Given the description of an element on the screen output the (x, y) to click on. 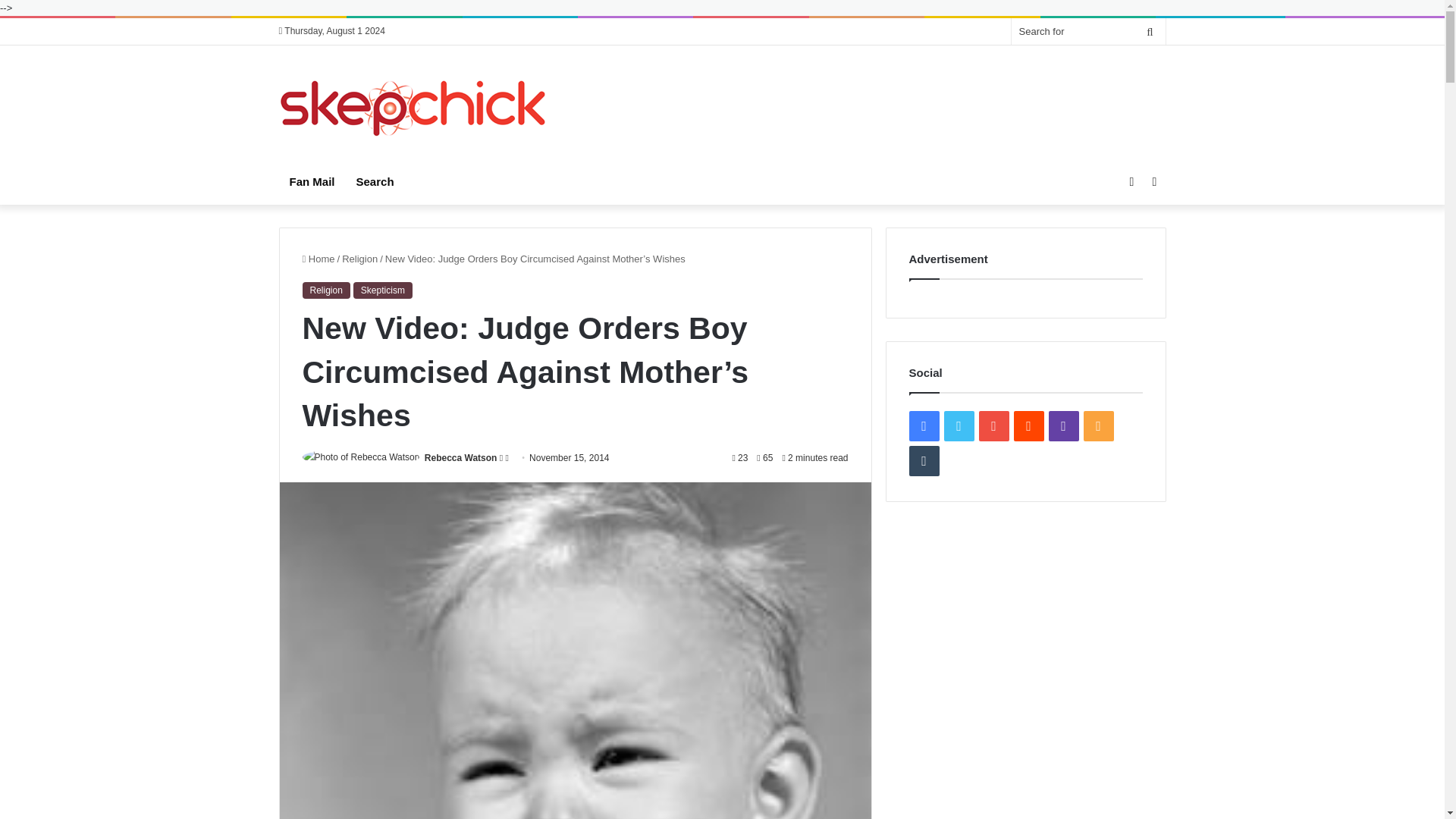
Rebecca Watson (461, 457)
Search for (1149, 31)
Skepticism (382, 289)
Rebecca Watson (461, 457)
Home (317, 258)
Religion (325, 289)
Search (375, 181)
Fan Mail (312, 181)
Search for (1088, 31)
Religion (359, 258)
Skepchick (414, 107)
